Given the description of an element on the screen output the (x, y) to click on. 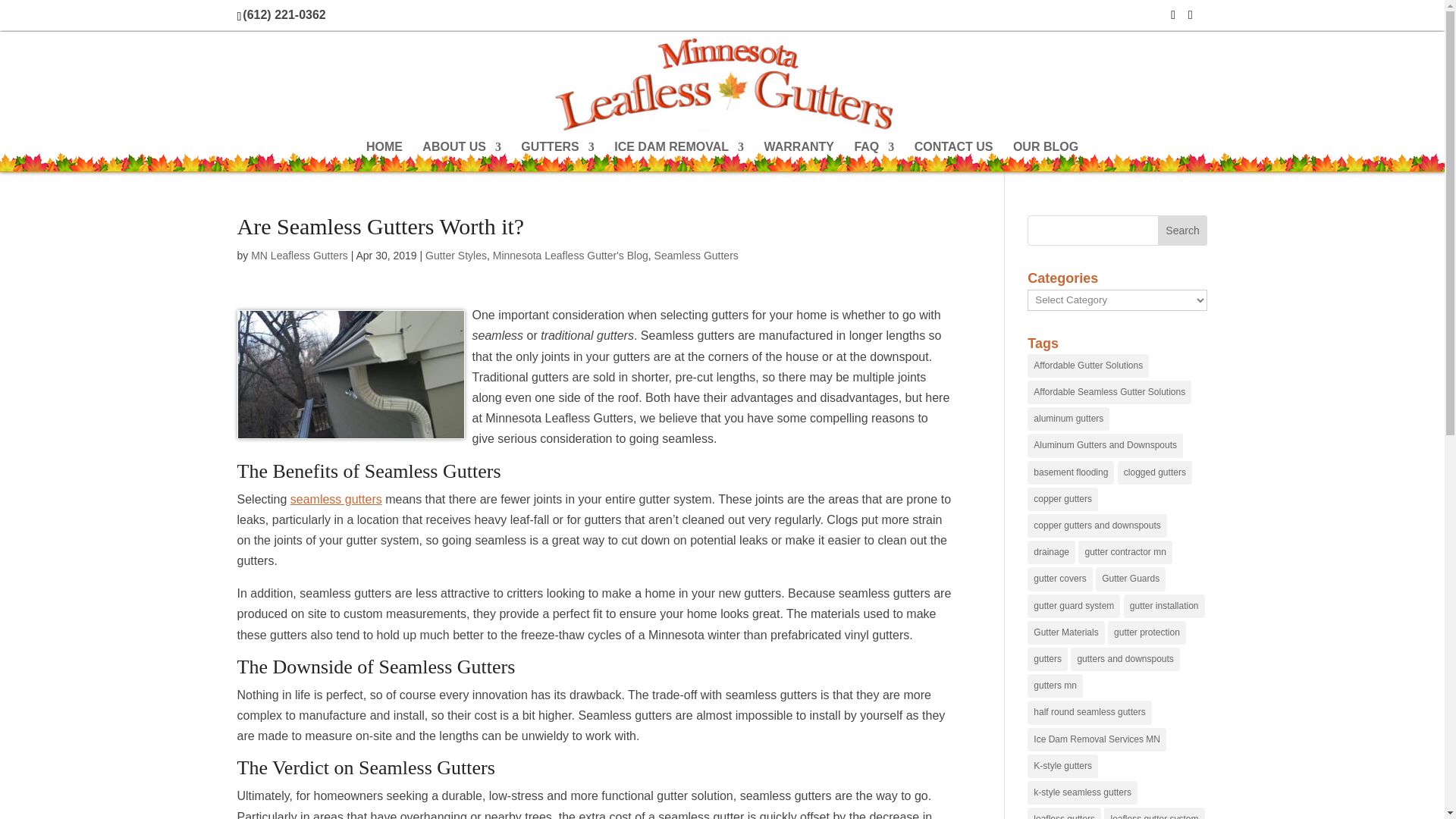
ICE DAM REMOVAL (679, 156)
Are Seamless Gutters Worth it? (349, 374)
GUTTERS (557, 156)
HOME (384, 156)
CONTACT US (953, 156)
OUR BLOG (1045, 156)
Search (1182, 230)
WARRANTY (799, 156)
ABOUT US (461, 156)
FAQ (873, 156)
Posts by MN Leafless Gutters (298, 255)
